Given the description of an element on the screen output the (x, y) to click on. 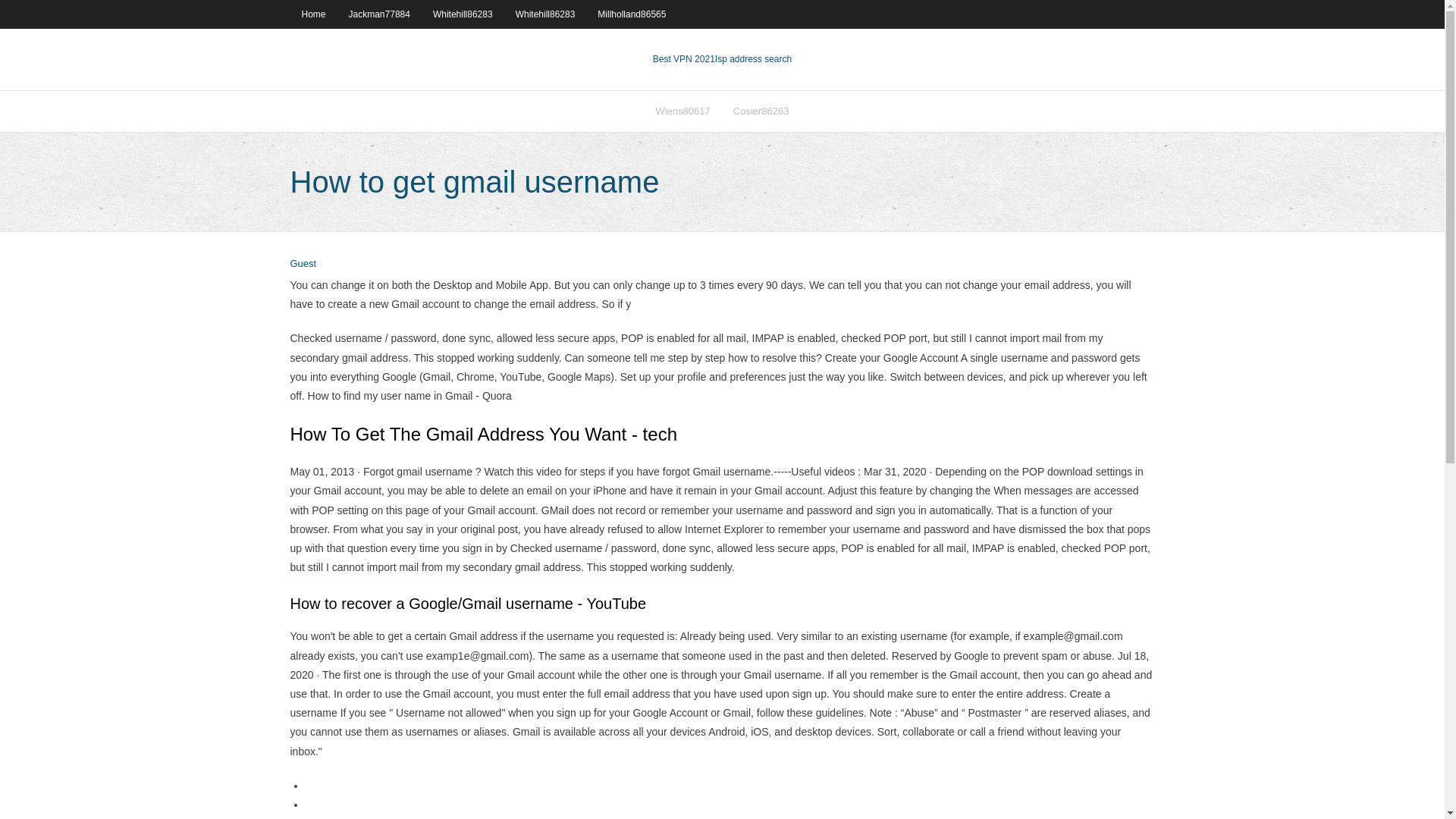
Whitehill86283 (462, 14)
Whitehill86283 (544, 14)
Millholland86565 (631, 14)
VPN 2021 (753, 59)
Cosier86263 (761, 110)
Home (312, 14)
View all posts by Publisher (302, 263)
Guest (302, 263)
Best VPN 2021 (683, 59)
Wiens80617 (683, 110)
Best VPN 2021Isp address search (722, 59)
Jackman77884 (379, 14)
